Given the description of an element on the screen output the (x, y) to click on. 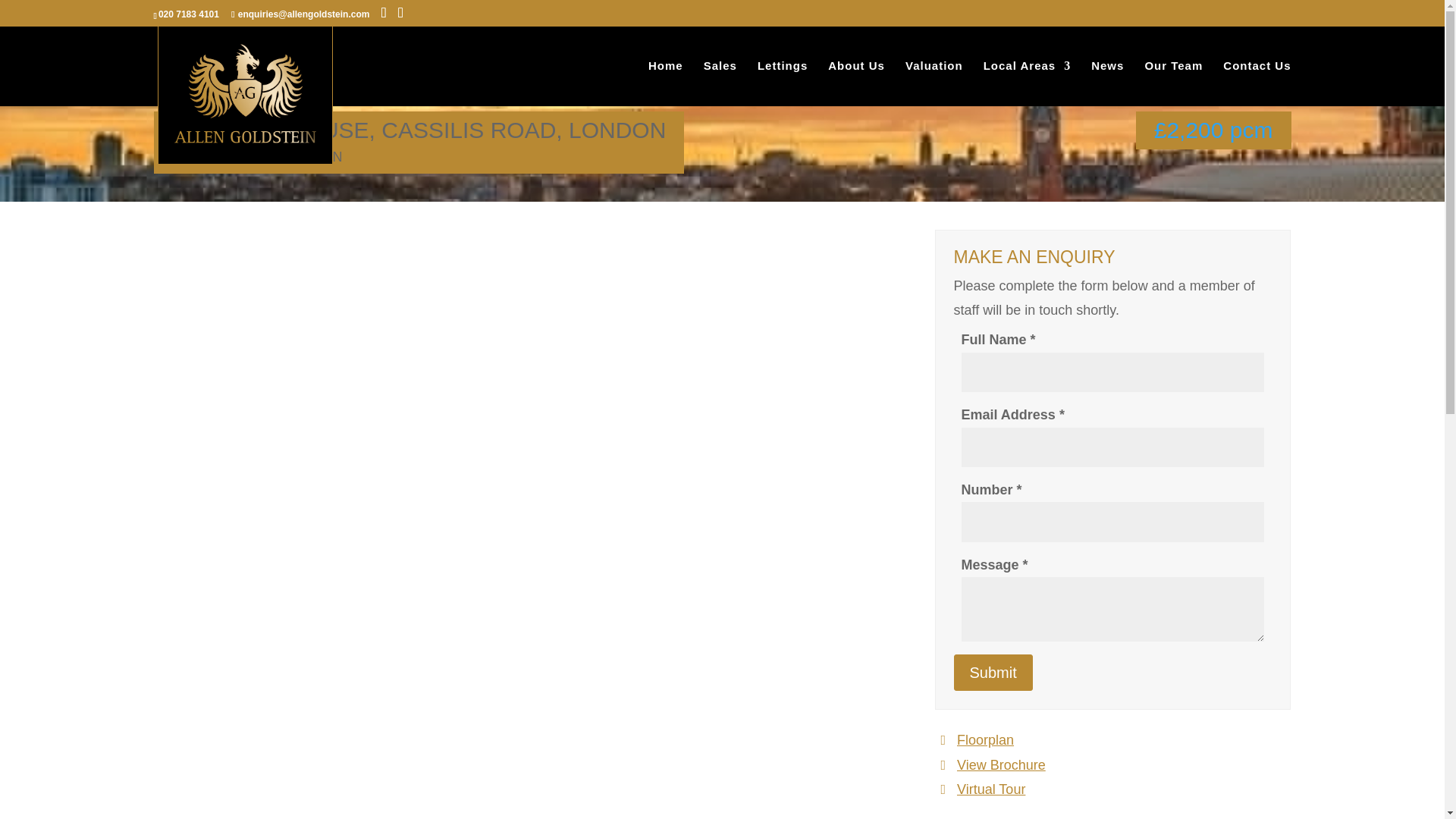
Contact Us (1256, 83)
Floorplan (1112, 740)
Lettings (782, 83)
Our Team (1173, 83)
Virtual Tour (1112, 789)
Virtual Tour (1112, 789)
View Brochure (1112, 764)
Floorplan (1112, 740)
View Brochure (1112, 764)
About Us (856, 83)
